Given the description of an element on the screen output the (x, y) to click on. 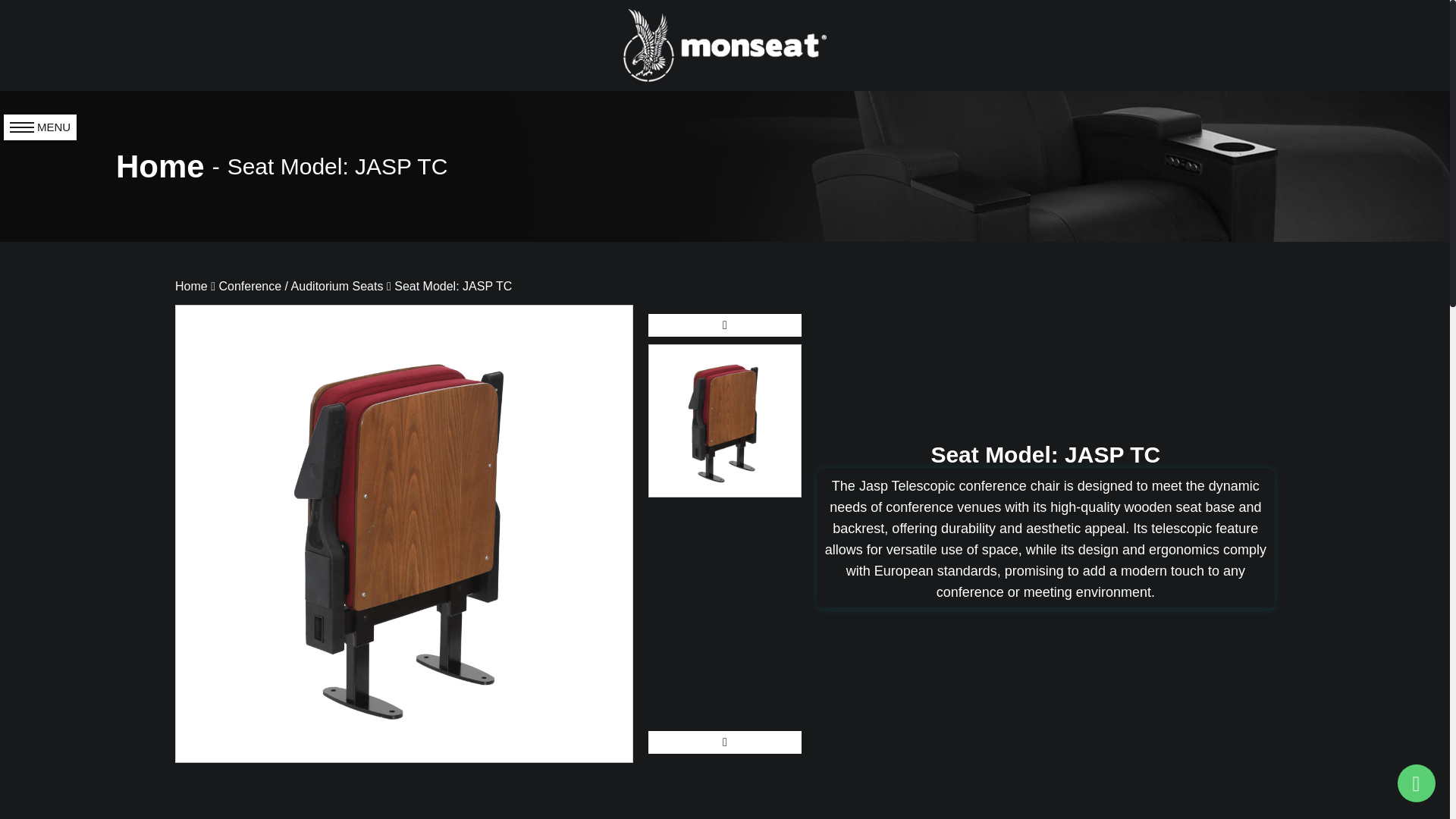
Homepage (191, 286)
Home (160, 166)
Home (191, 286)
